Given the description of an element on the screen output the (x, y) to click on. 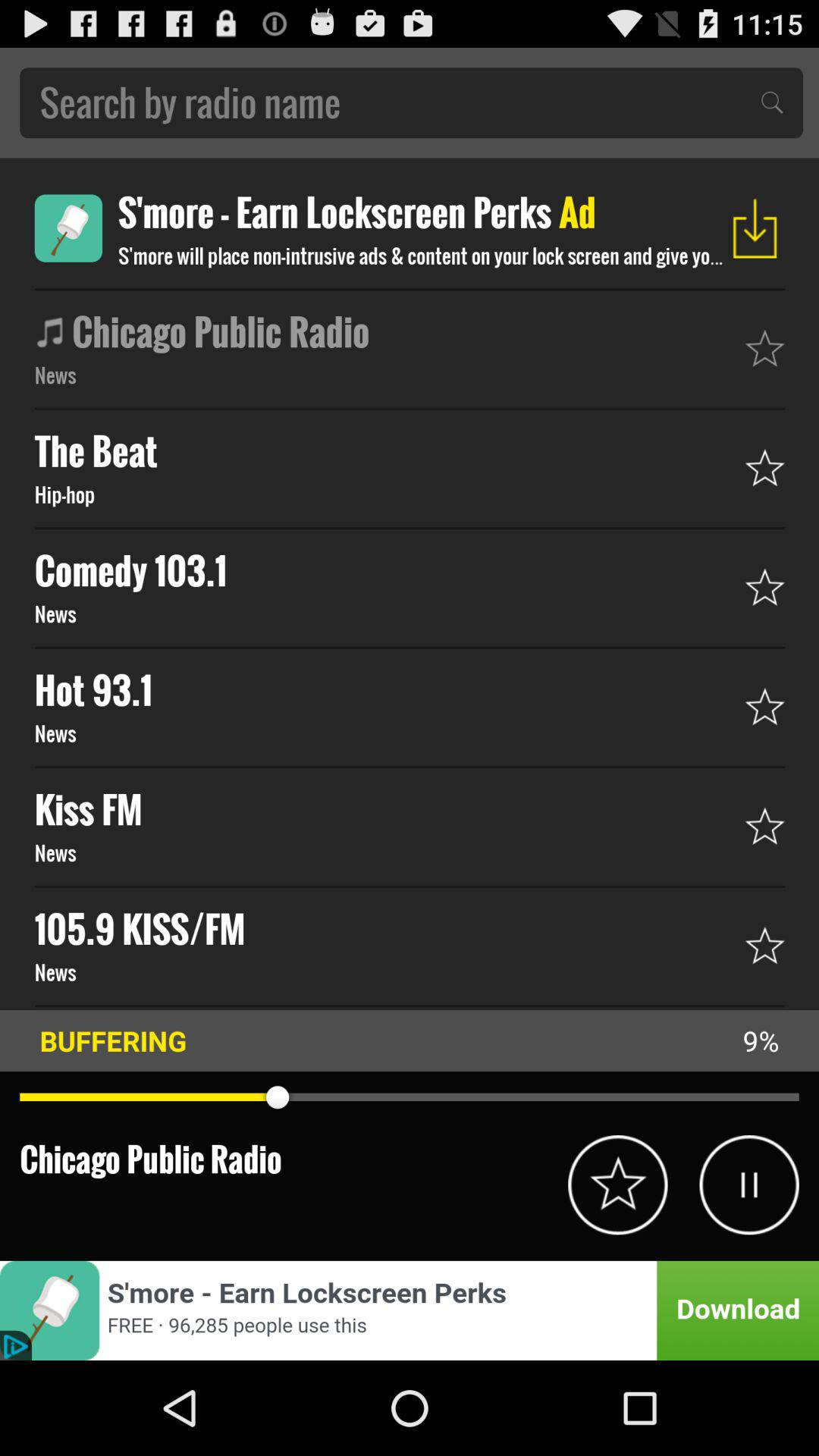
search (411, 102)
